Given the description of an element on the screen output the (x, y) to click on. 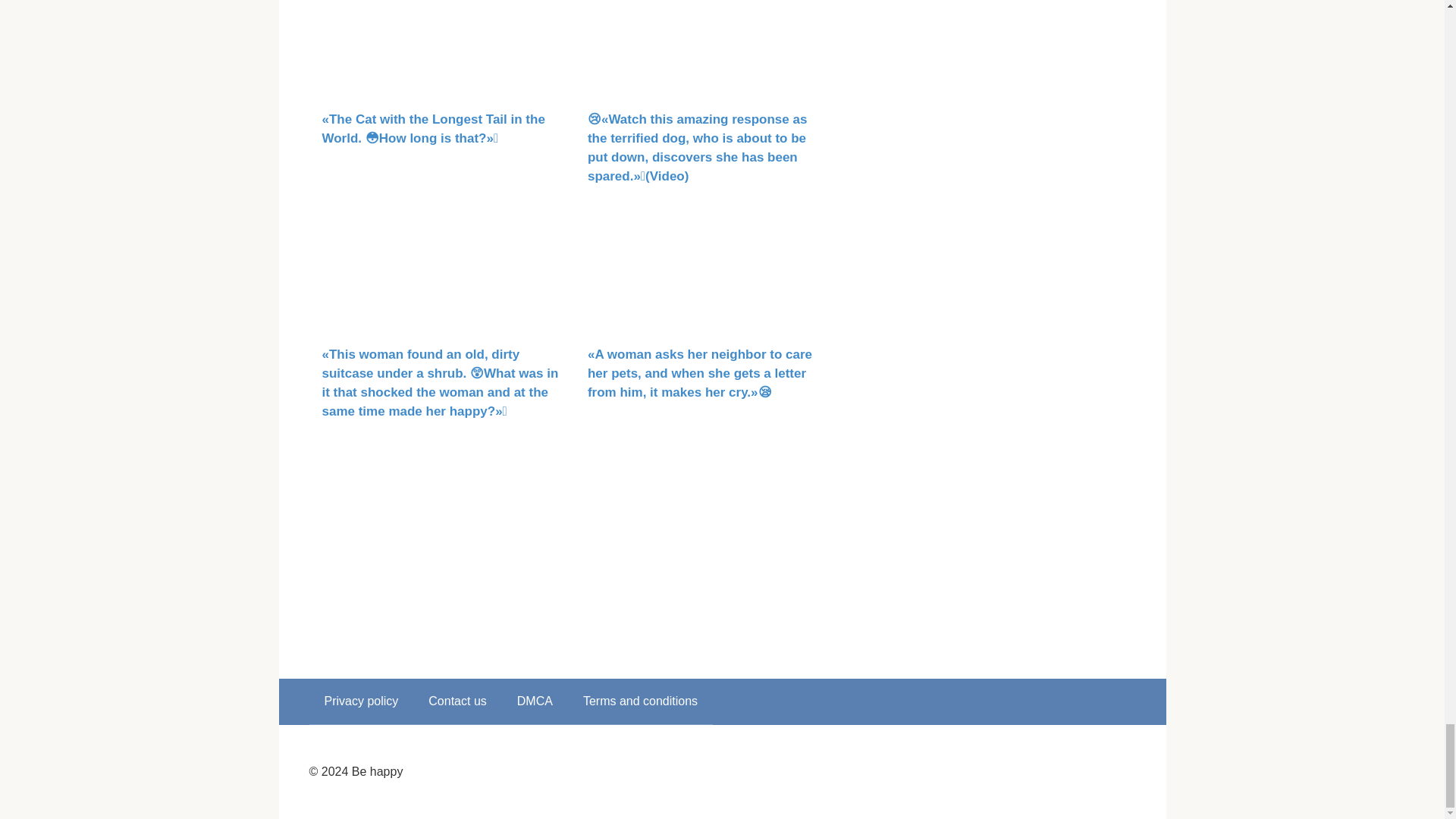
Terms and conditions (640, 700)
Contact us (456, 700)
DMCA (534, 700)
Privacy policy (360, 700)
